Given the description of an element on the screen output the (x, y) to click on. 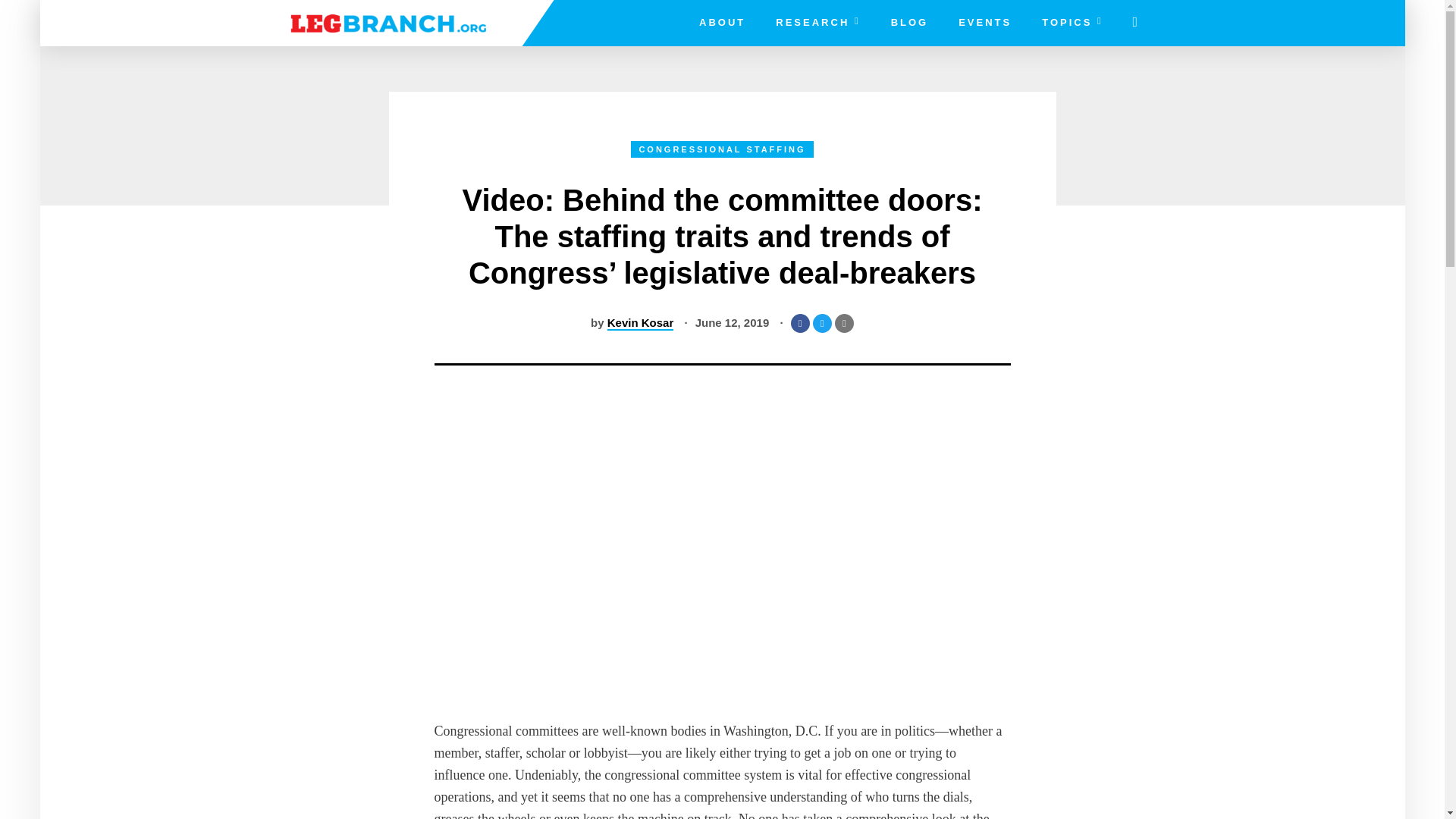
ABOUT (722, 22)
RESEARCH (817, 22)
BLOG (909, 22)
EVENTS (984, 22)
